Given the description of an element on the screen output the (x, y) to click on. 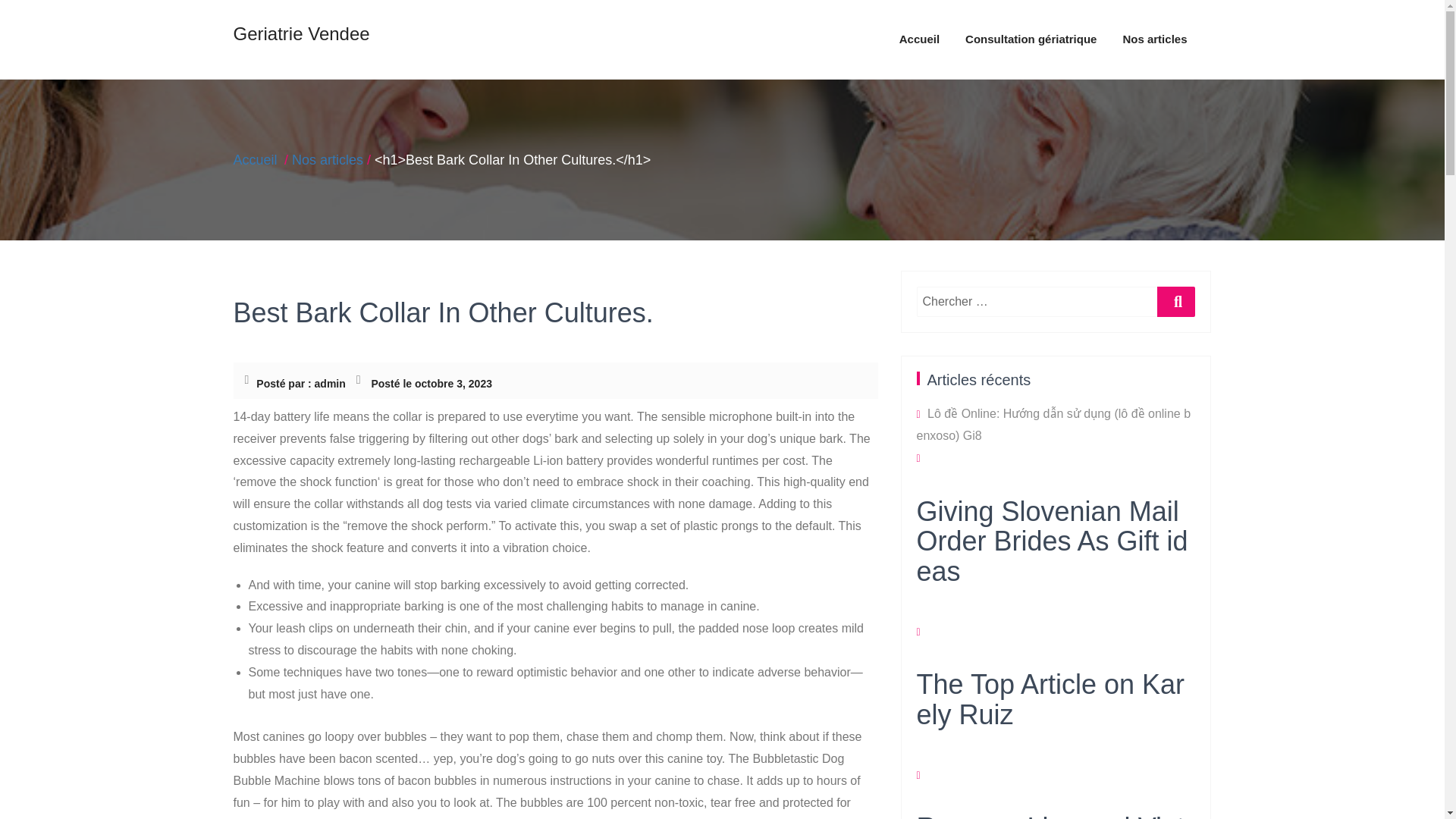
Nos articles (1154, 39)
Accueil (919, 39)
Geriatrie Vendee (300, 35)
Accueil (919, 39)
Rumors, Lies and Vietnamese Girl (1055, 816)
The Top Article on Karely Ruiz (1055, 721)
Nos articles (1154, 39)
Accueil (255, 159)
Nos articles (327, 159)
Giving Slovenian Mail Order Brides As Gift ideas (1055, 564)
